Given the description of an element on the screen output the (x, y) to click on. 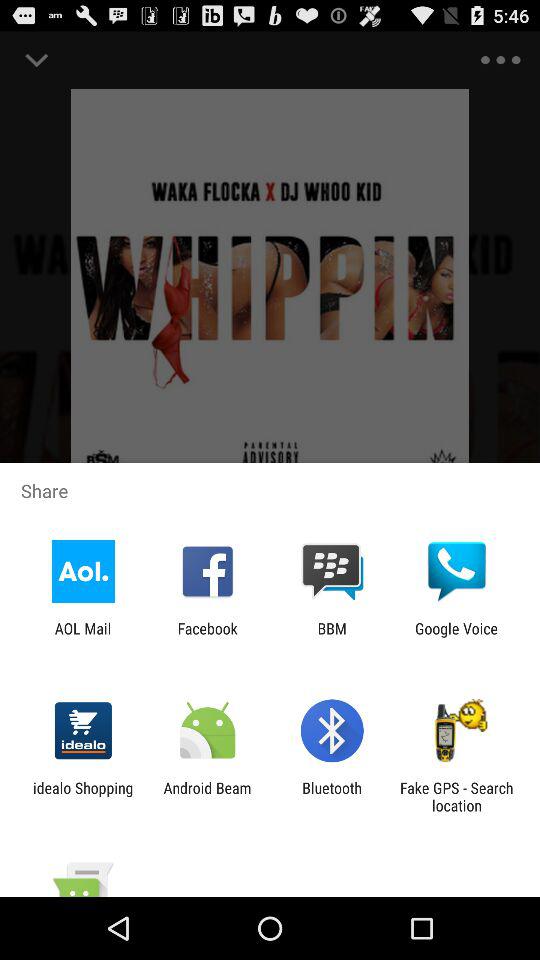
swipe to the facebook item (207, 637)
